Given the description of an element on the screen output the (x, y) to click on. 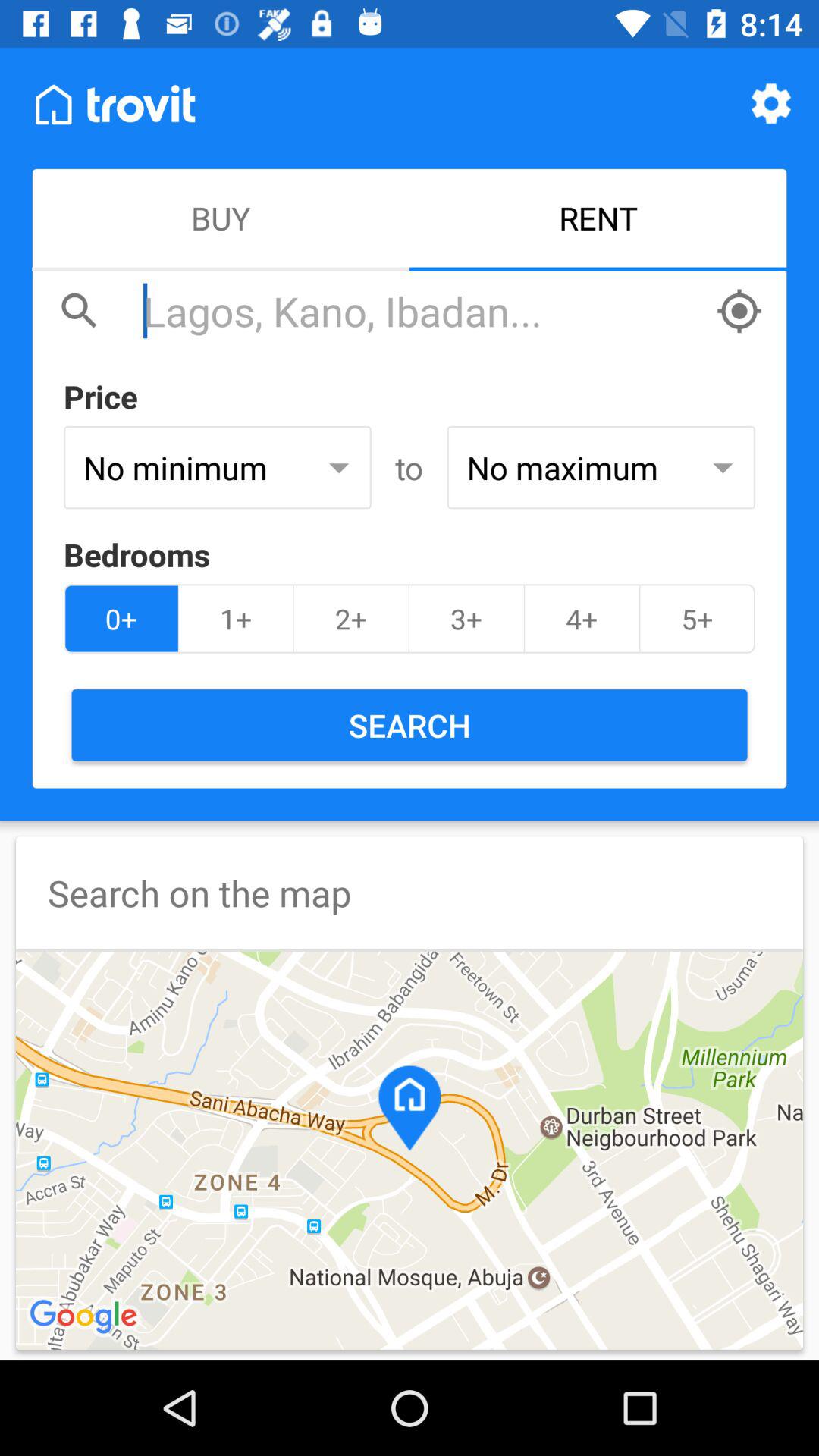
tap on the text rent shown right to buy (598, 219)
click on the text field which is next to search (421, 310)
click on the button which is above price and left side of the text field (80, 310)
